Given the description of an element on the screen output the (x, y) to click on. 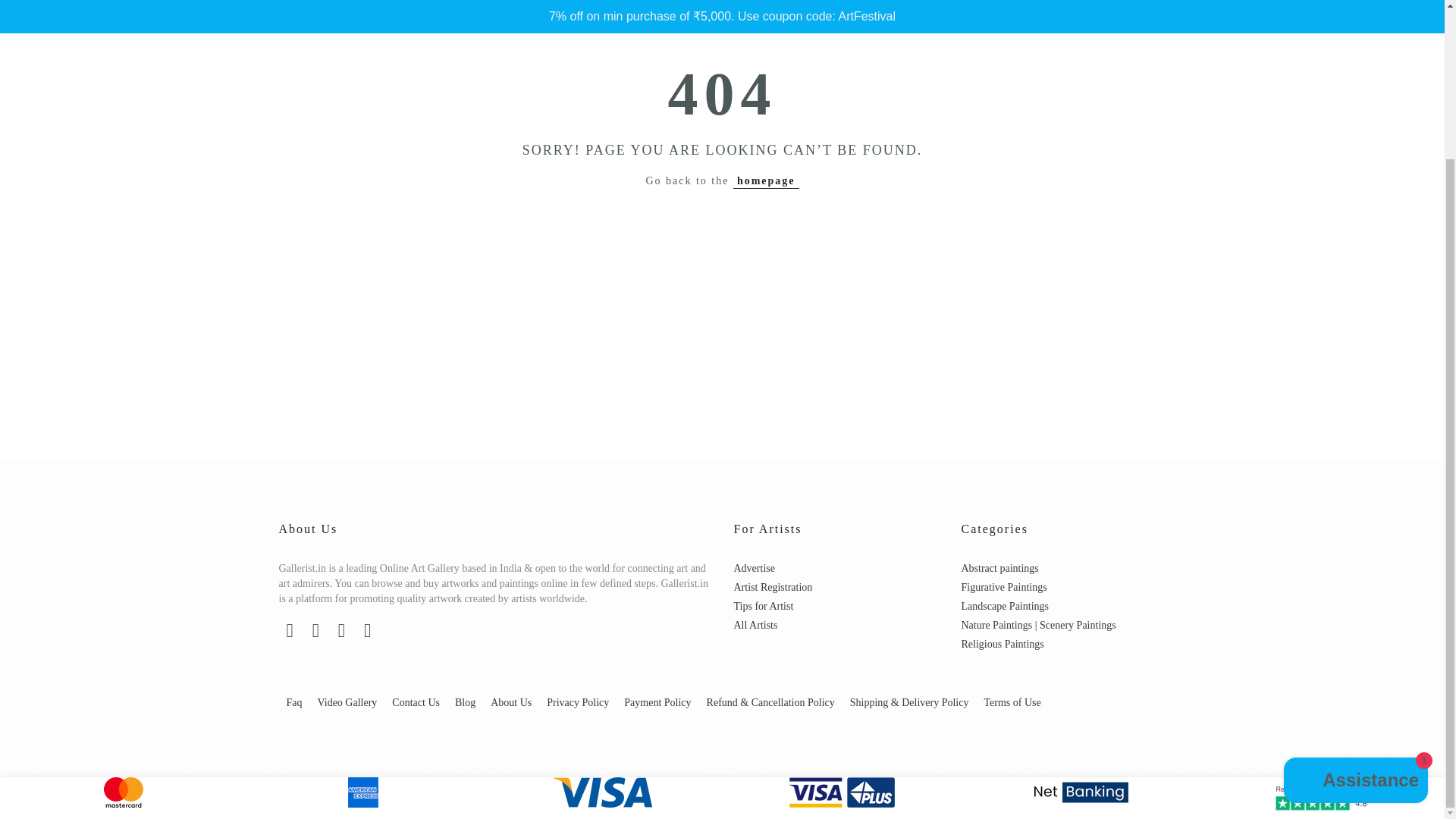
Shopify online store chat (1355, 594)
